Given the description of an element on the screen output the (x, y) to click on. 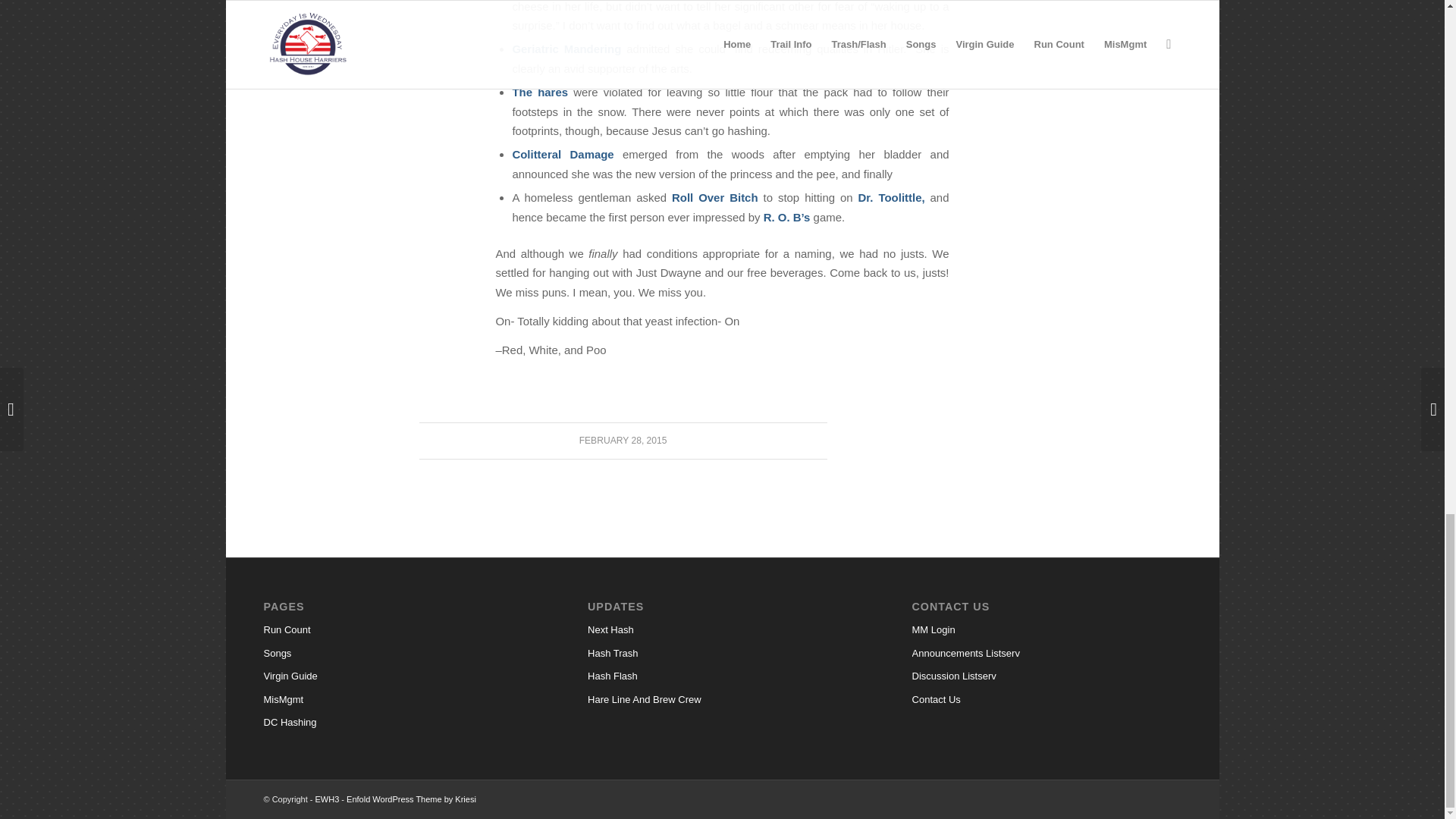
Next Hash (722, 630)
Run Count (397, 630)
DC Hashing (397, 722)
Virgin Guide (397, 676)
Enfold WordPress Theme by Kriesi (411, 798)
Hash Flash (722, 676)
Hare Line And Brew Crew (722, 699)
EWH3 (327, 798)
Songs (397, 653)
Hash Trash (722, 653)
MisMgmt (397, 699)
